Given the description of an element on the screen output the (x, y) to click on. 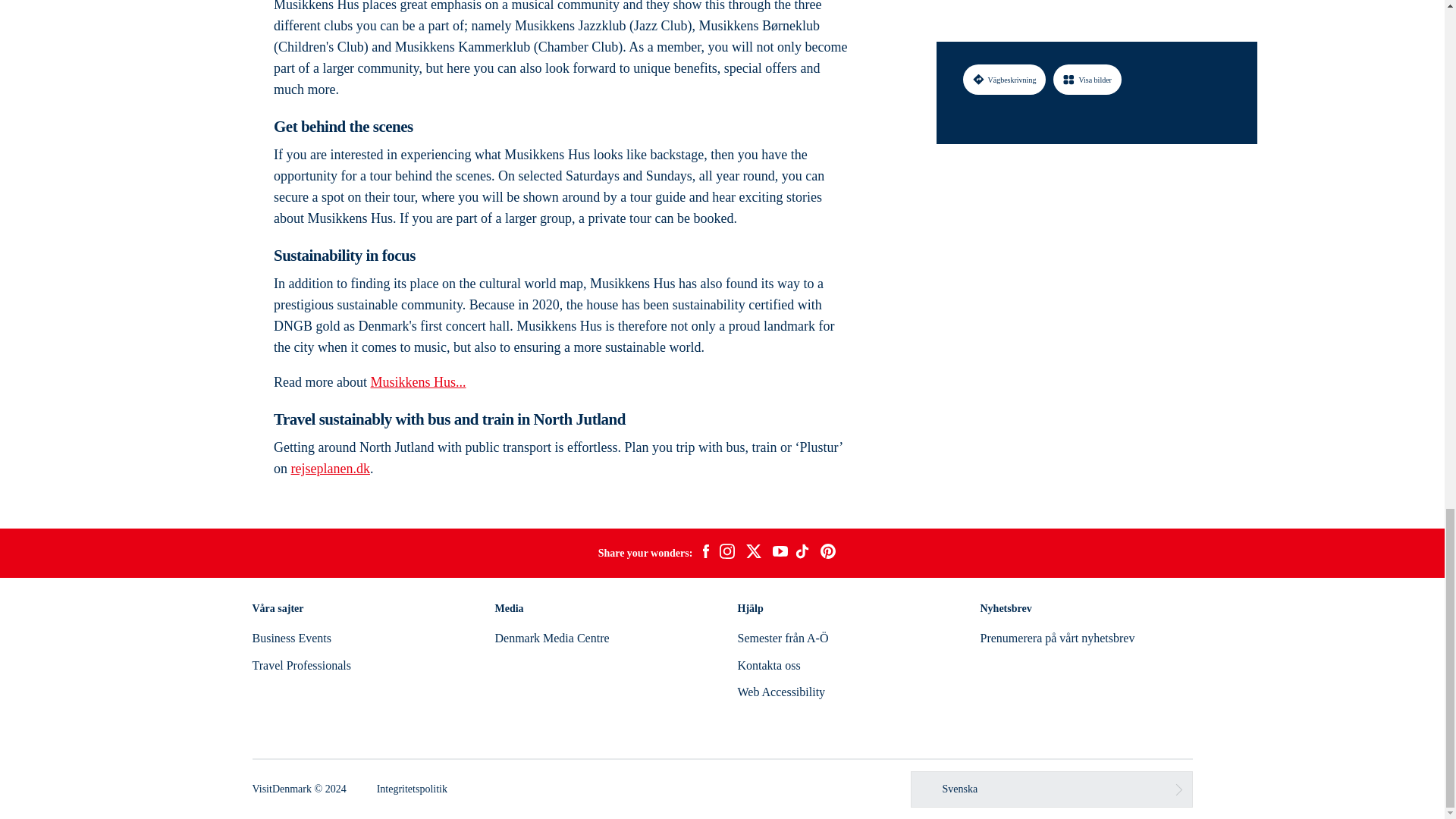
pinterest (828, 553)
Travel Professionals (300, 665)
tiktok (804, 553)
Denmark Media Centre (551, 637)
Web Accessibility (780, 691)
instagram (726, 553)
Travel Professionals (300, 665)
Denmark Media Centre (551, 637)
facebook (705, 553)
Kontakta oss (767, 665)
